Given the description of an element on the screen output the (x, y) to click on. 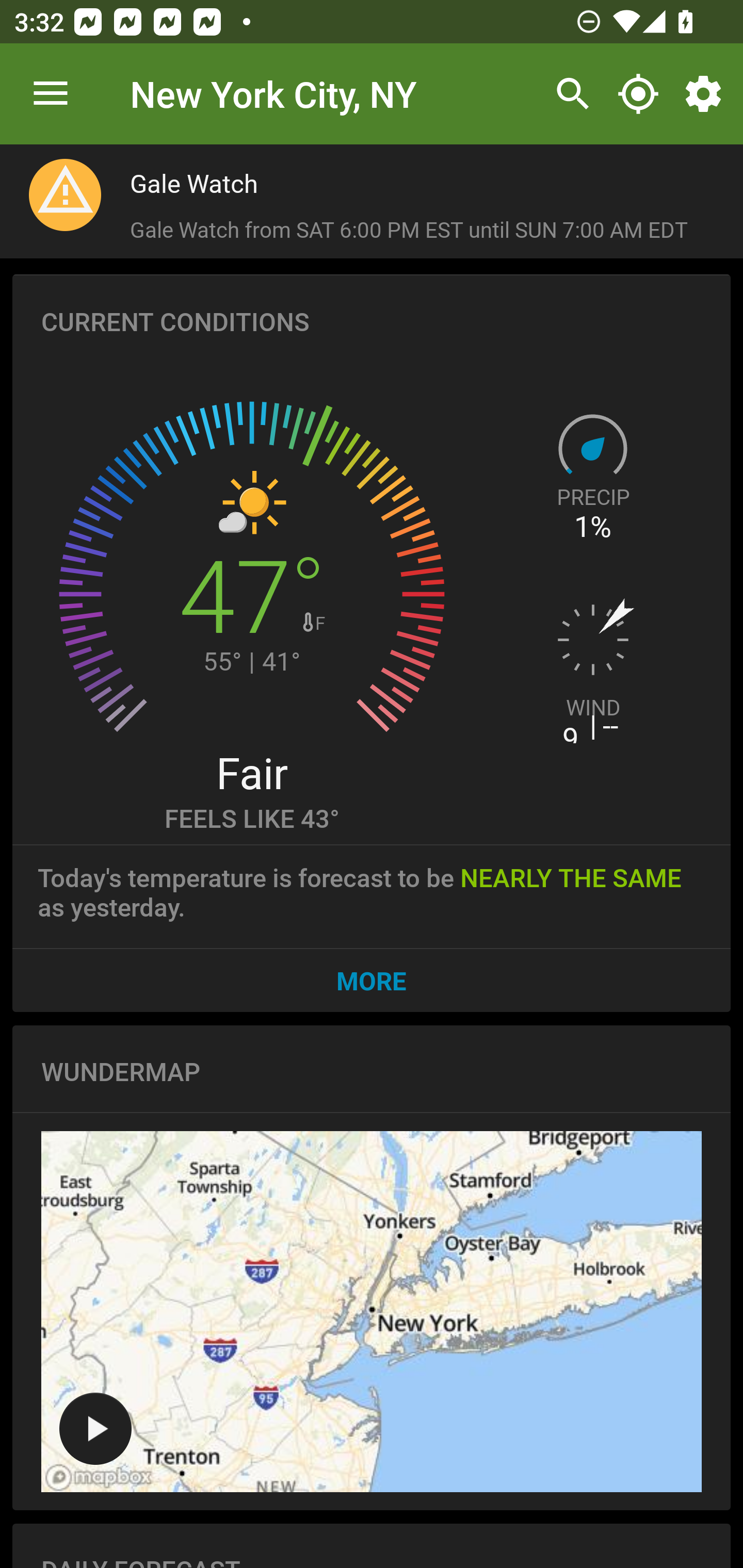
Press to open location manager. (50, 93)
Search for location (567, 94)
Select GPS location (637, 94)
Settings (706, 94)
New York City, NY (273, 92)
1% (592, 526)
Fair (251, 772)
MORE (371, 979)
Weather Map (371, 1311)
Weather Map (95, 1428)
